Given the description of an element on the screen output the (x, y) to click on. 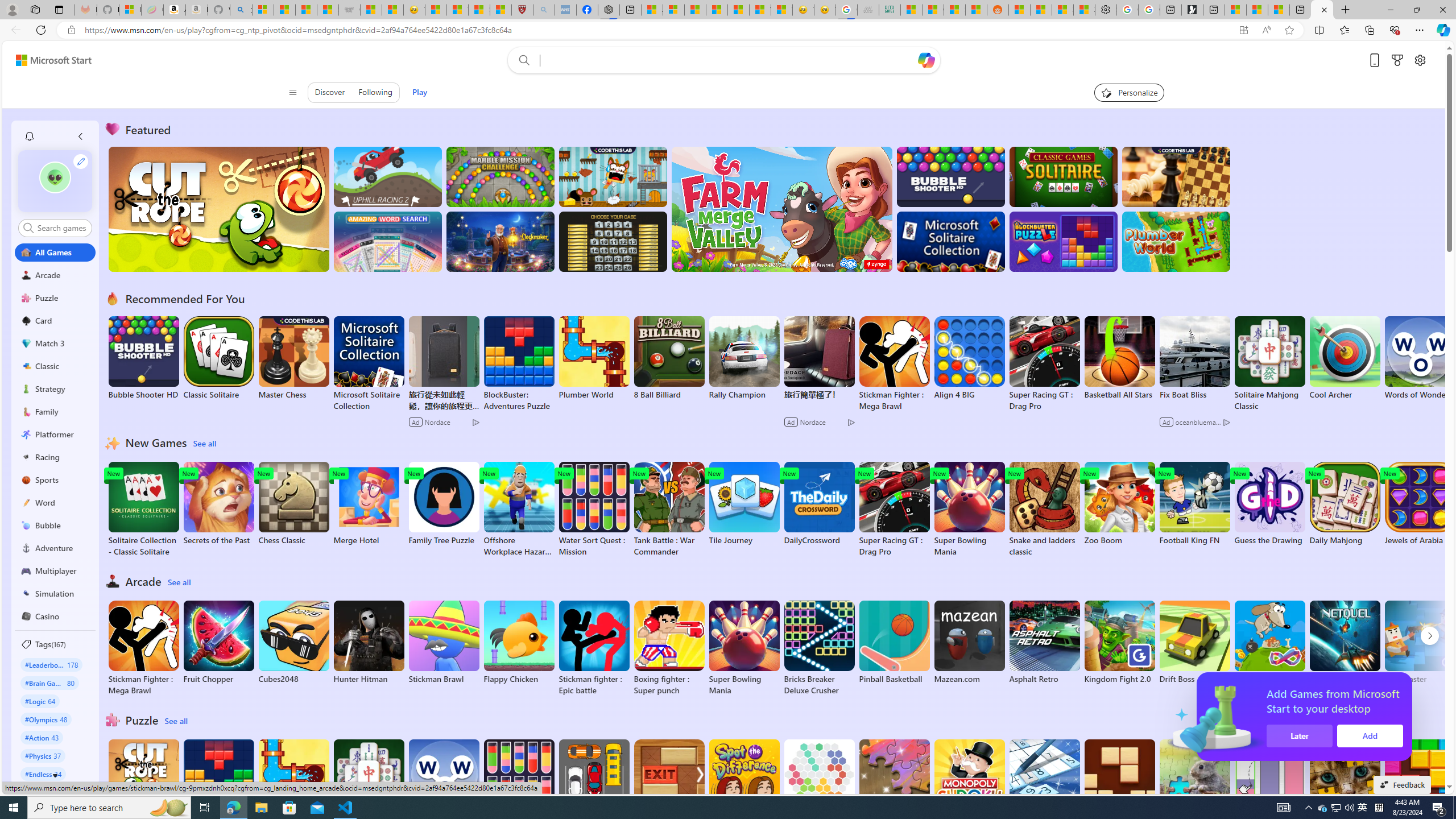
Secrets of the Past (218, 503)
Class: notification-item (28, 136)
#Brain Games 80 (49, 682)
AutomationID: control (61, 227)
Microsoft Solitaire Collection (368, 363)
